Given the description of an element on the screen output the (x, y) to click on. 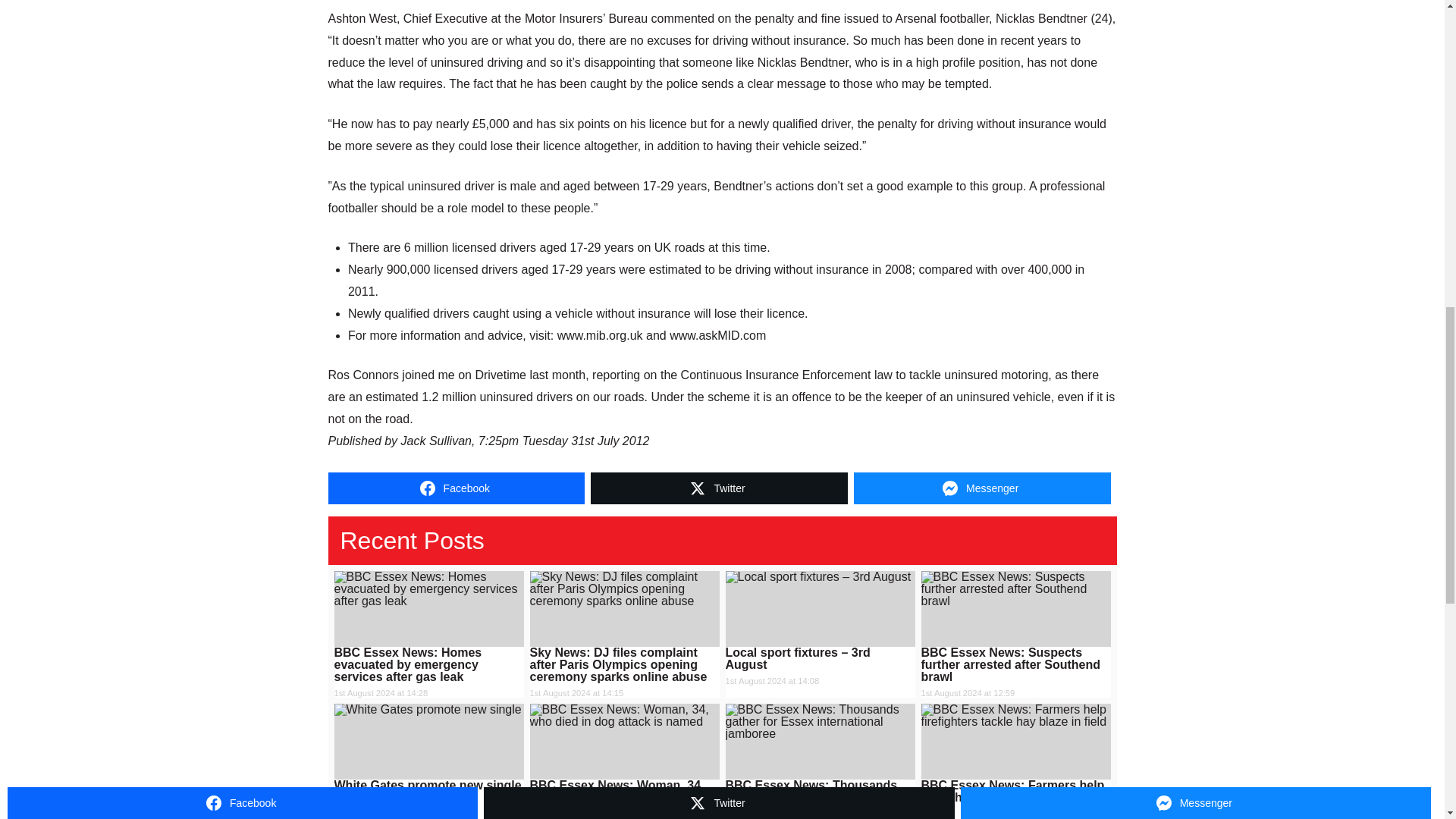
Share on Messenger (981, 488)
Share on Twitter (719, 488)
www.askMID.com (717, 335)
www.mib.org.uk (600, 335)
Share on Facebook (456, 488)
